Given the description of an element on the screen output the (x, y) to click on. 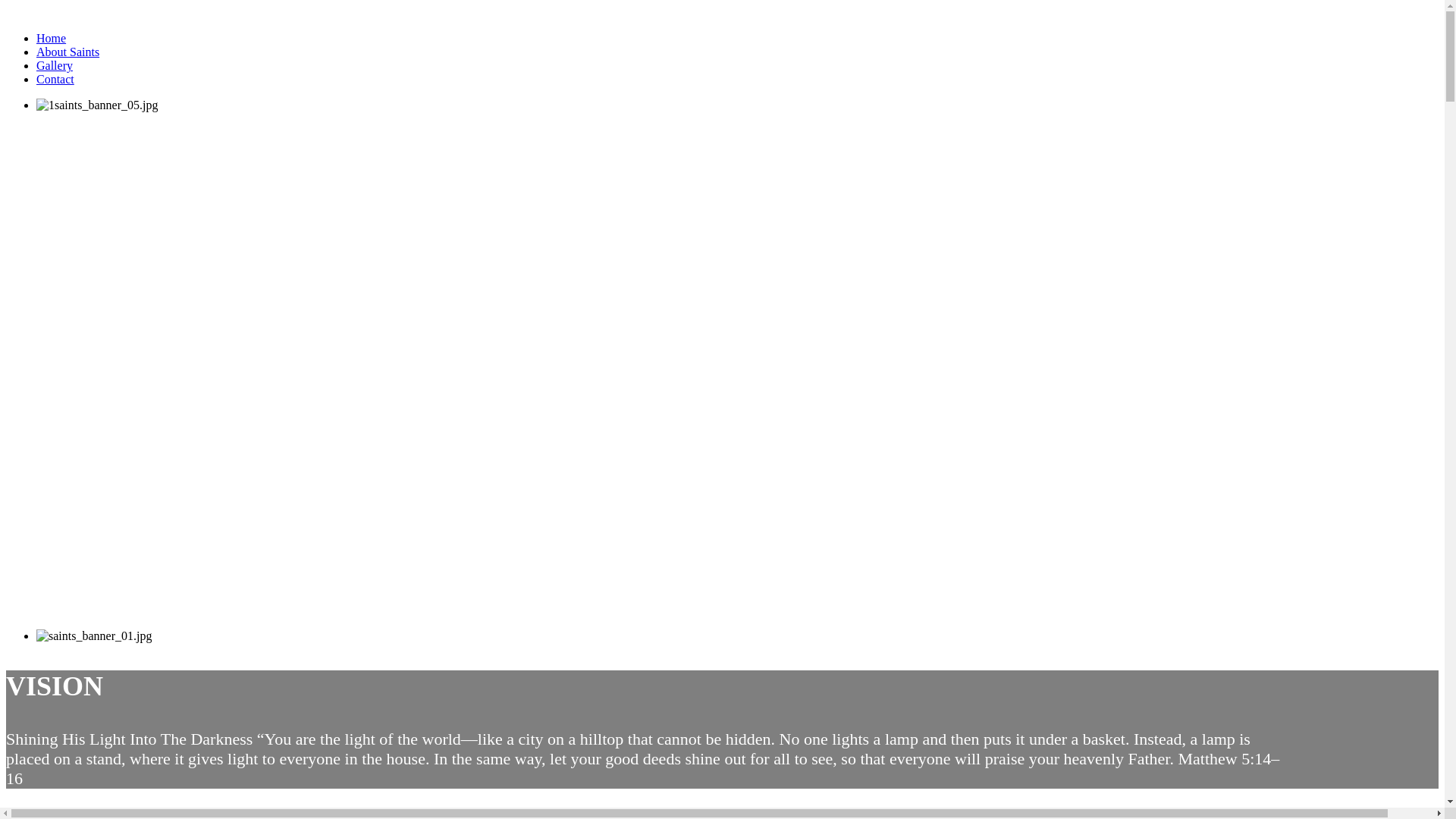
About Saints Element type: text (67, 51)
Gallery Element type: text (54, 65)
Contact Element type: text (55, 78)
Home Element type: text (50, 37)
